Given the description of an element on the screen output the (x, y) to click on. 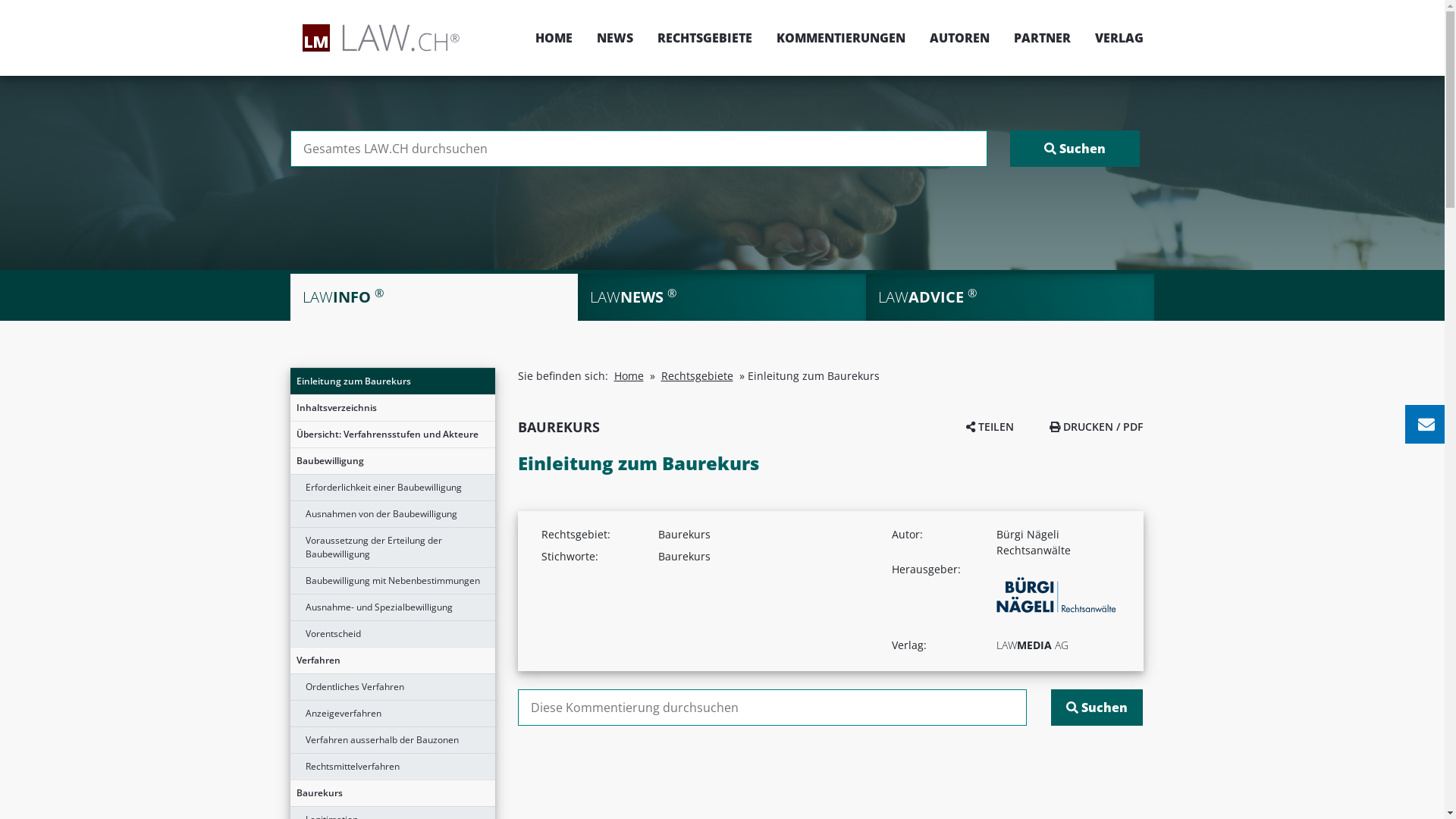
Rechtsgebiete Element type: text (697, 375)
VERLAG Element type: text (1112, 37)
Verfahren ausserhalb der Bauzonen Element type: text (391, 740)
Inhaltsverzeichnis Element type: text (391, 407)
Suchen nach: Element type: hover (637, 148)
Anzeigeverfahren Element type: text (391, 713)
Ordentliches Verfahren Element type: text (391, 686)
Vorentscheid Element type: text (391, 633)
Suchen nach: Element type: hover (771, 707)
Voraussetzung der Erteilung der Baubewilligung Element type: text (391, 547)
PARTNER Element type: text (1041, 37)
Erforderlichkeit einer Baubewilligung Element type: text (391, 487)
Baurekurs Element type: text (391, 793)
Einleitung zum Baurekurs Element type: text (391, 381)
Baubewilligung Element type: text (391, 460)
Home Element type: text (628, 375)
 DRUCKEN / PDF Element type: text (1095, 426)
Ausnahmen von der Baubewilligung Element type: text (391, 514)
Verfahren Element type: text (391, 660)
 TEILEN Element type: text (989, 426)
RECHTSGEBIETE Element type: text (703, 37)
Ausnahme- und Spezialbewilligung Element type: text (391, 607)
KOMMENTIERUNGEN Element type: text (840, 37)
HOME Element type: text (553, 37)
NEWS Element type: text (613, 37)
Rechtsmittelverfahren Element type: text (391, 766)
AUTOREN Element type: text (959, 37)
Baubewilligung mit Nebenbestimmungen Element type: text (391, 580)
